Given the description of an element on the screen output the (x, y) to click on. 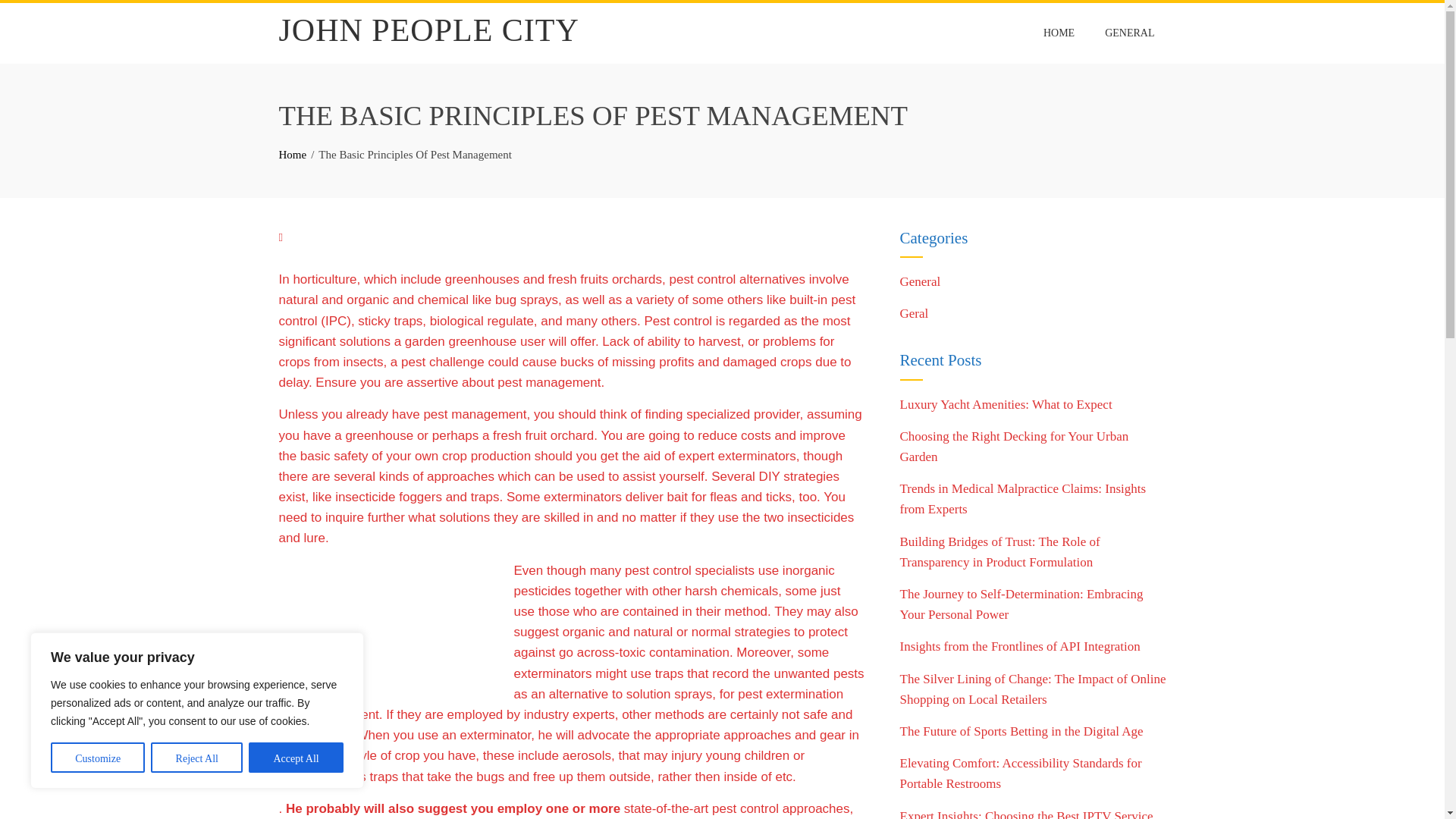
GENERAL (1129, 32)
Choosing the Right Decking for Your Urban Garden (1013, 446)
Insights from the Frontlines of API Integration (1019, 646)
General (919, 281)
Reject All (197, 757)
The Future of Sports Betting in the Digital Age (1020, 730)
Accept All (295, 757)
